Given the description of an element on the screen output the (x, y) to click on. 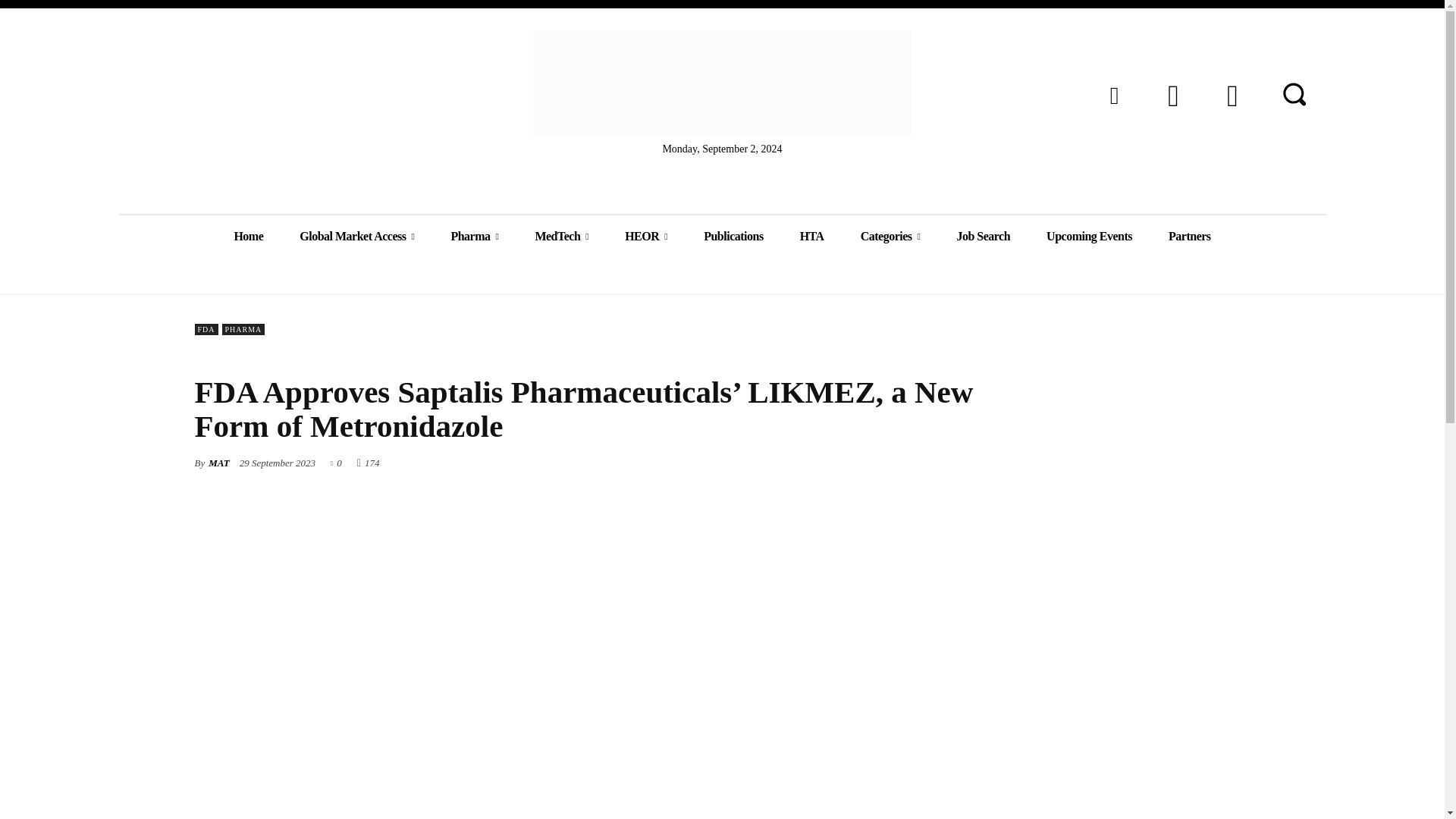
Youtube (1232, 95)
Telegram (1172, 95)
Linkedin (1113, 95)
